Given the description of an element on the screen output the (x, y) to click on. 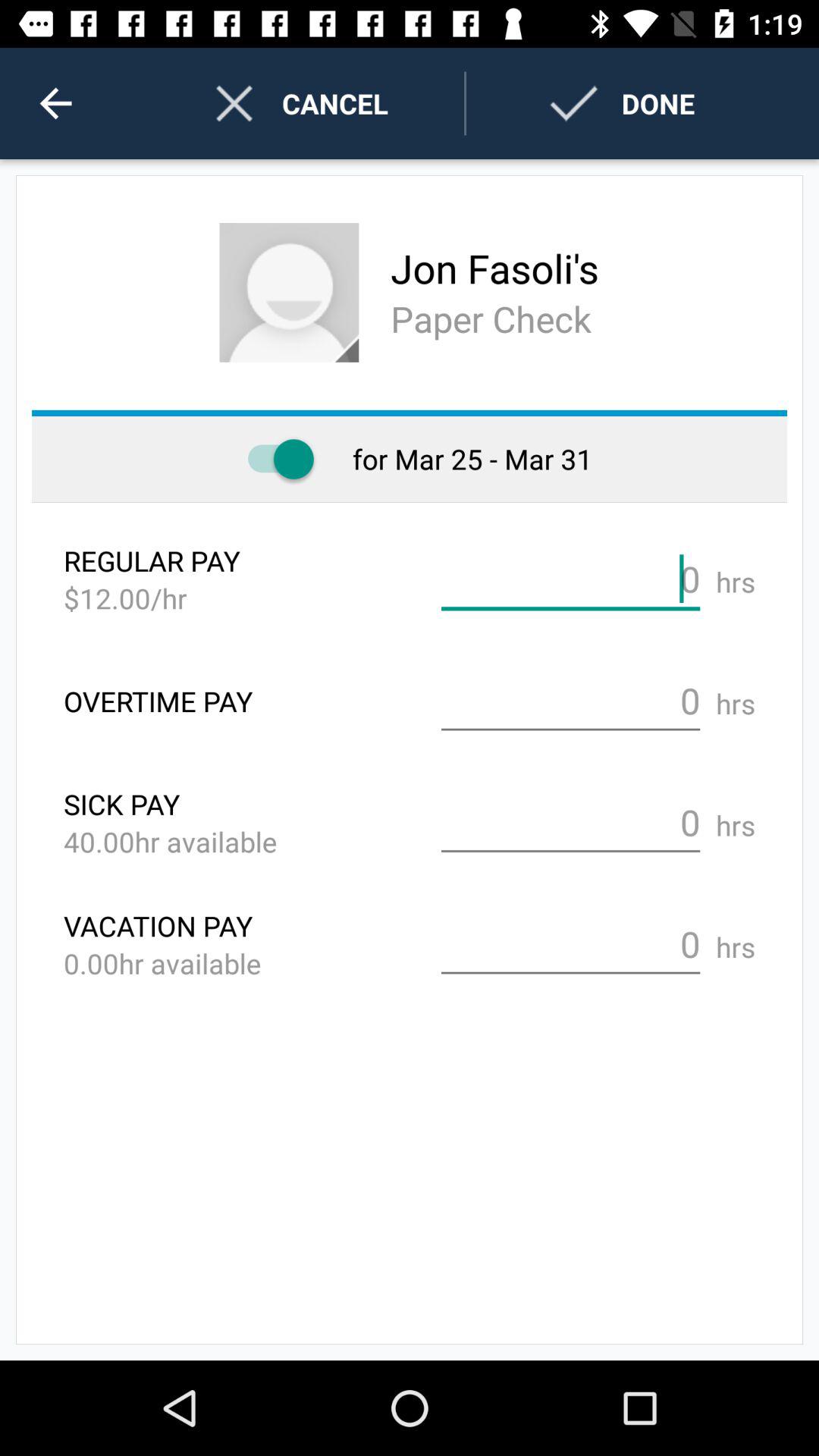
input text (570, 579)
